Given the description of an element on the screen output the (x, y) to click on. 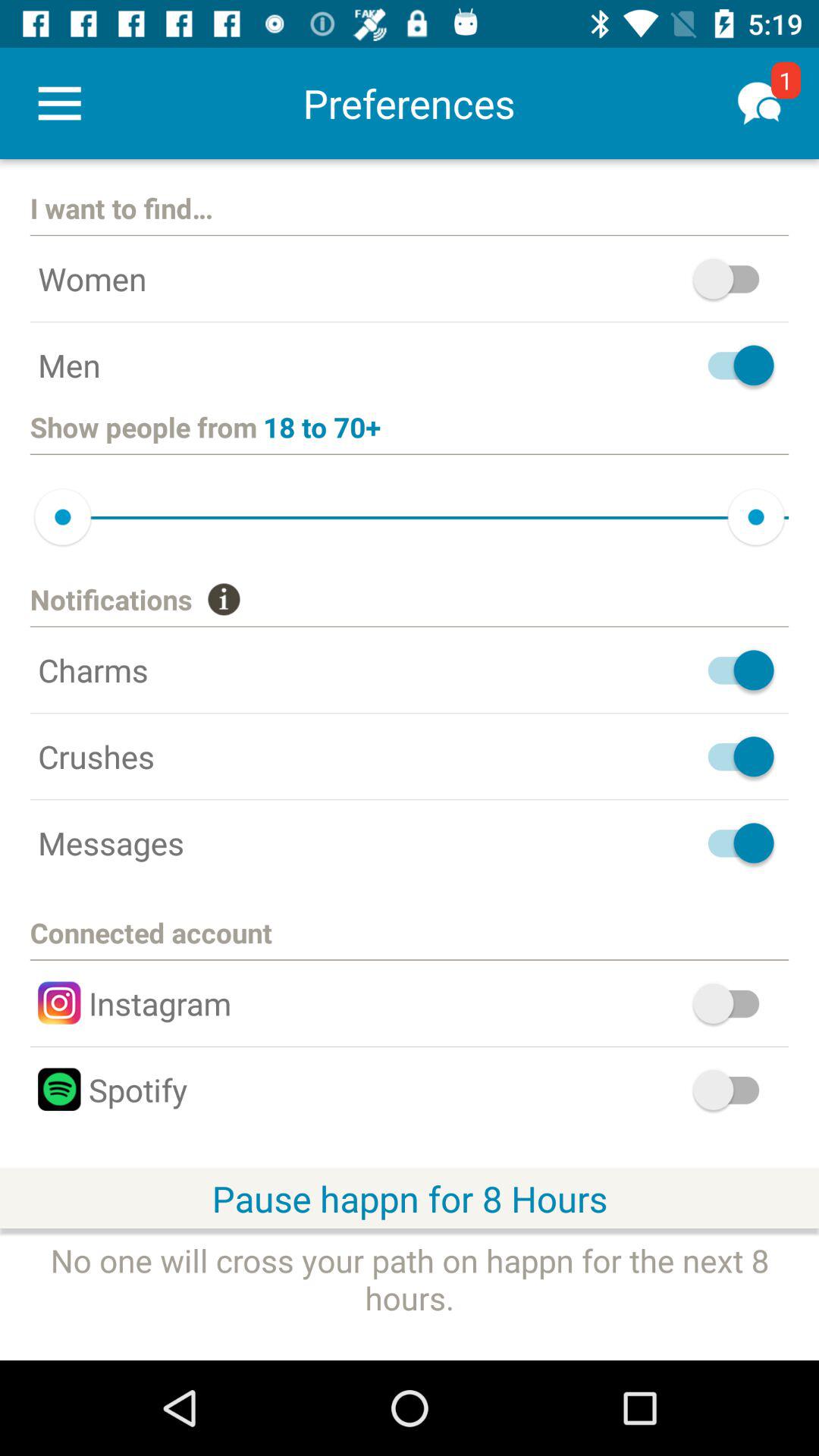
click on the button which is next to the spotify (733, 1089)
